Given the description of an element on the screen output the (x, y) to click on. 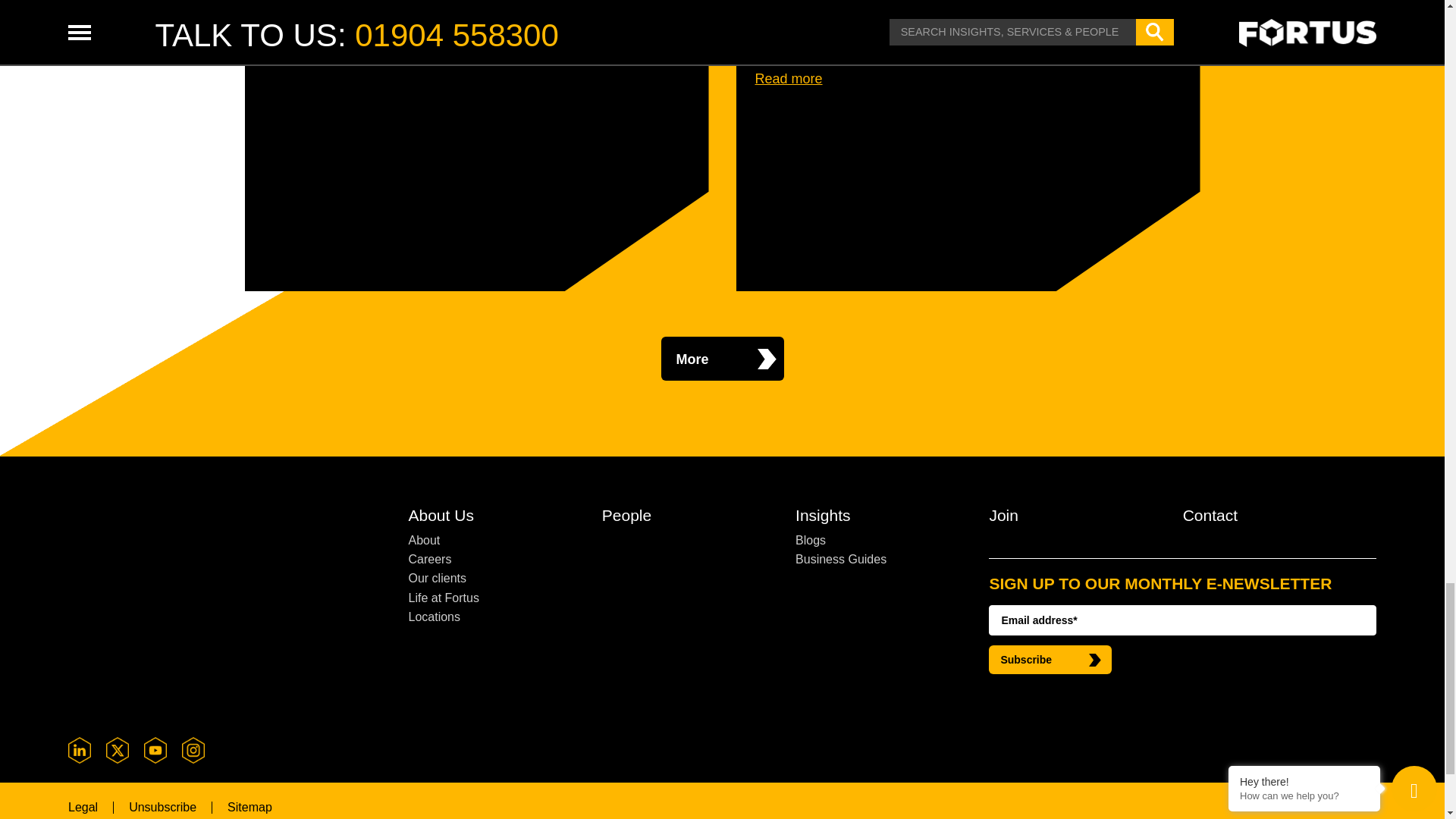
Read more (379, 24)
Our clients (494, 578)
Read more (788, 78)
Contact (1269, 518)
Legal (82, 807)
About (494, 539)
Locations (494, 616)
Careers (494, 558)
Business Guides (881, 558)
Blogs (881, 539)
Insights (881, 518)
Unsubscribe (162, 807)
Join (1075, 518)
Subscribe (1050, 659)
Subscribe (1050, 659)
